Given the description of an element on the screen output the (x, y) to click on. 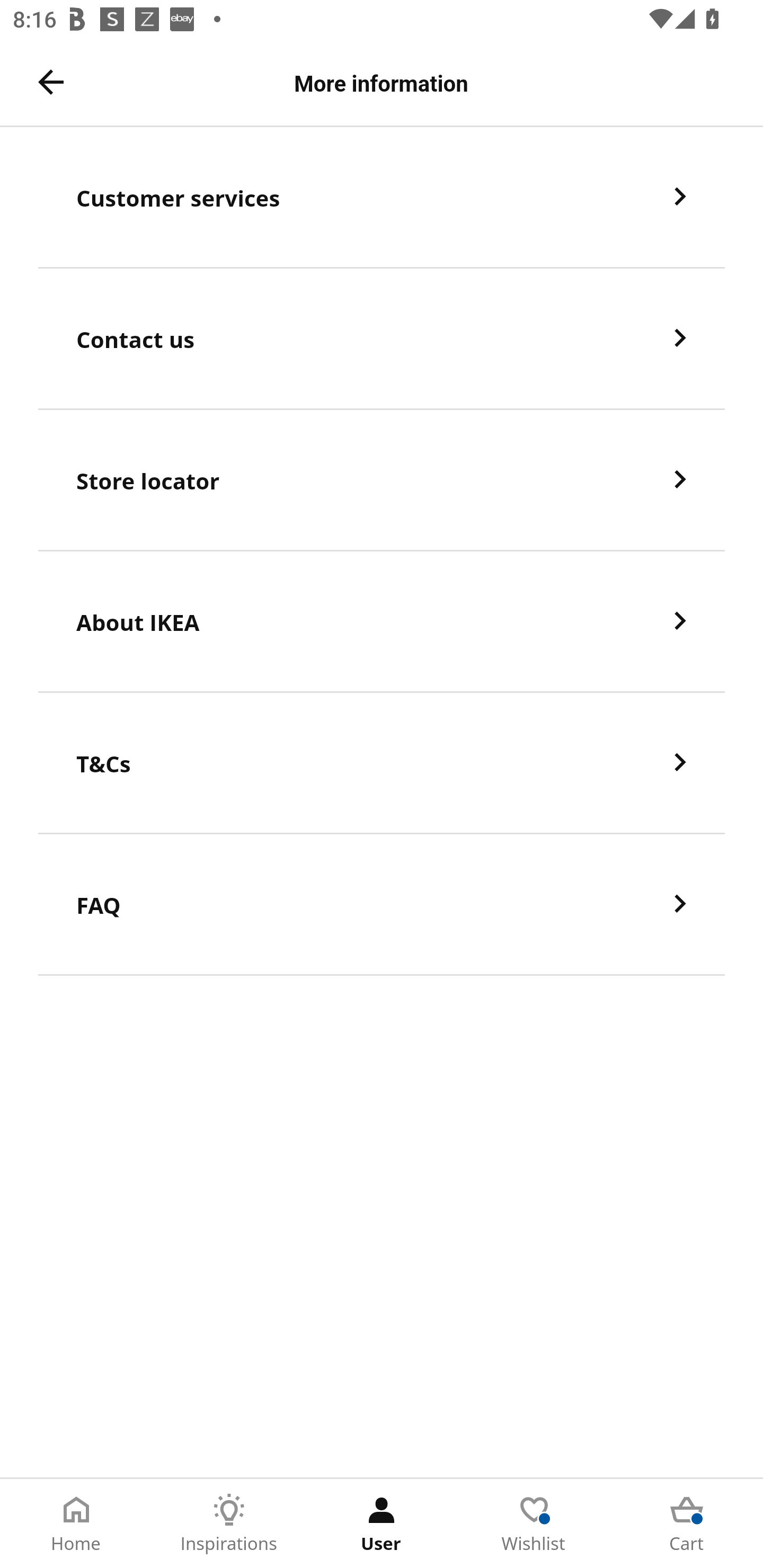
Customer services (381, 197)
Contact us (381, 338)
Store locator (381, 480)
About IKEA (381, 622)
T&Cs (381, 763)
FAQ (381, 904)
Home
Tab 1 of 5 (76, 1522)
Inspirations
Tab 2 of 5 (228, 1522)
User
Tab 3 of 5 (381, 1522)
Wishlist
Tab 4 of 5 (533, 1522)
Cart
Tab 5 of 5 (686, 1522)
